Given the description of an element on the screen output the (x, y) to click on. 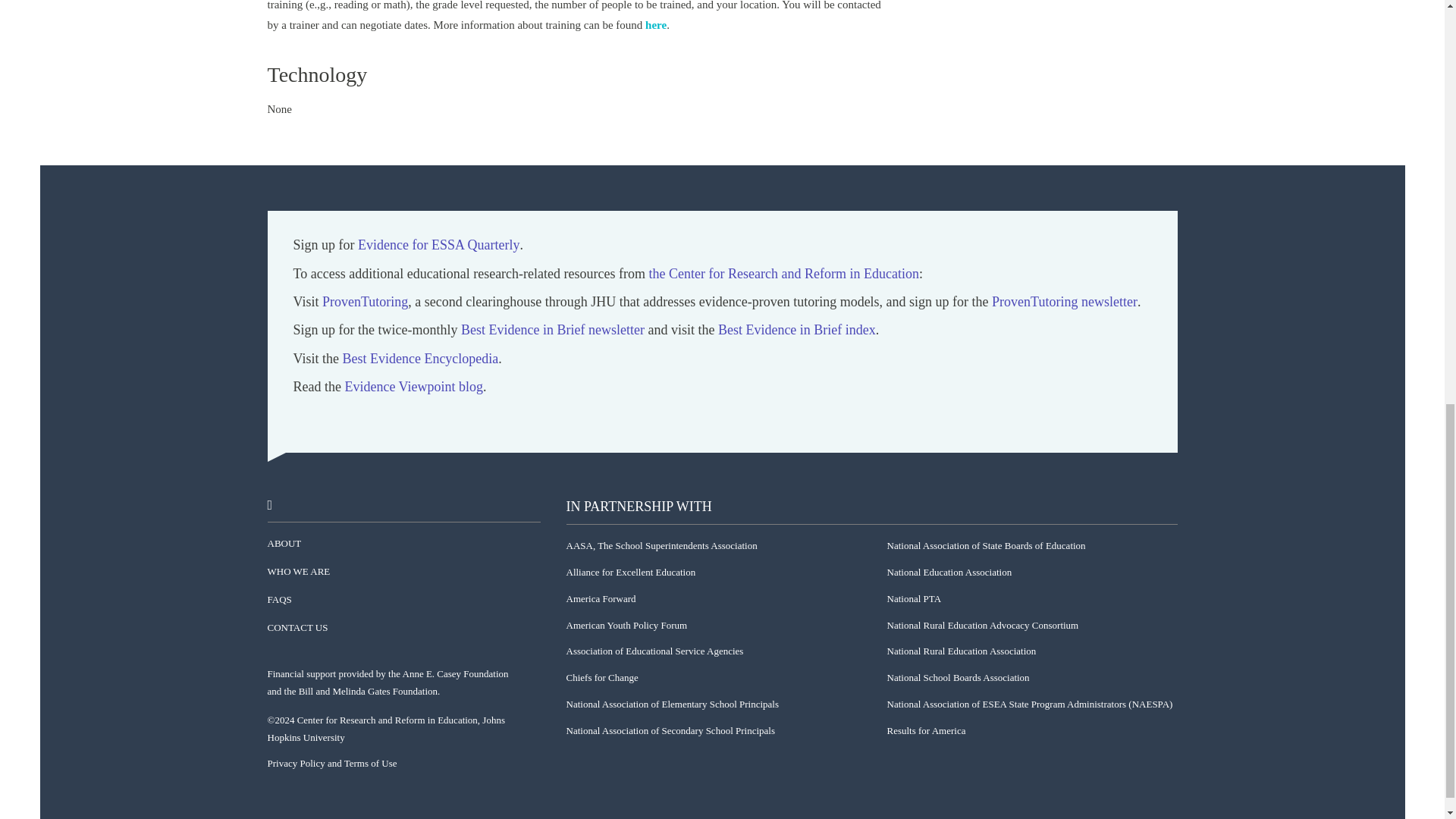
FAQS (278, 599)
WHO WE ARE (298, 571)
CONTACT US (296, 627)
here (655, 25)
Evidence Viewpoint blog (413, 386)
Best Evidence Encyclopedia (419, 358)
Privacy Policy and Terms of Use (331, 763)
Best Evidence in Brief newsletter (553, 330)
Evidence for ESSA Quarterly (438, 244)
the Center for Research and Reform in Education (783, 273)
